Given the description of an element on the screen output the (x, y) to click on. 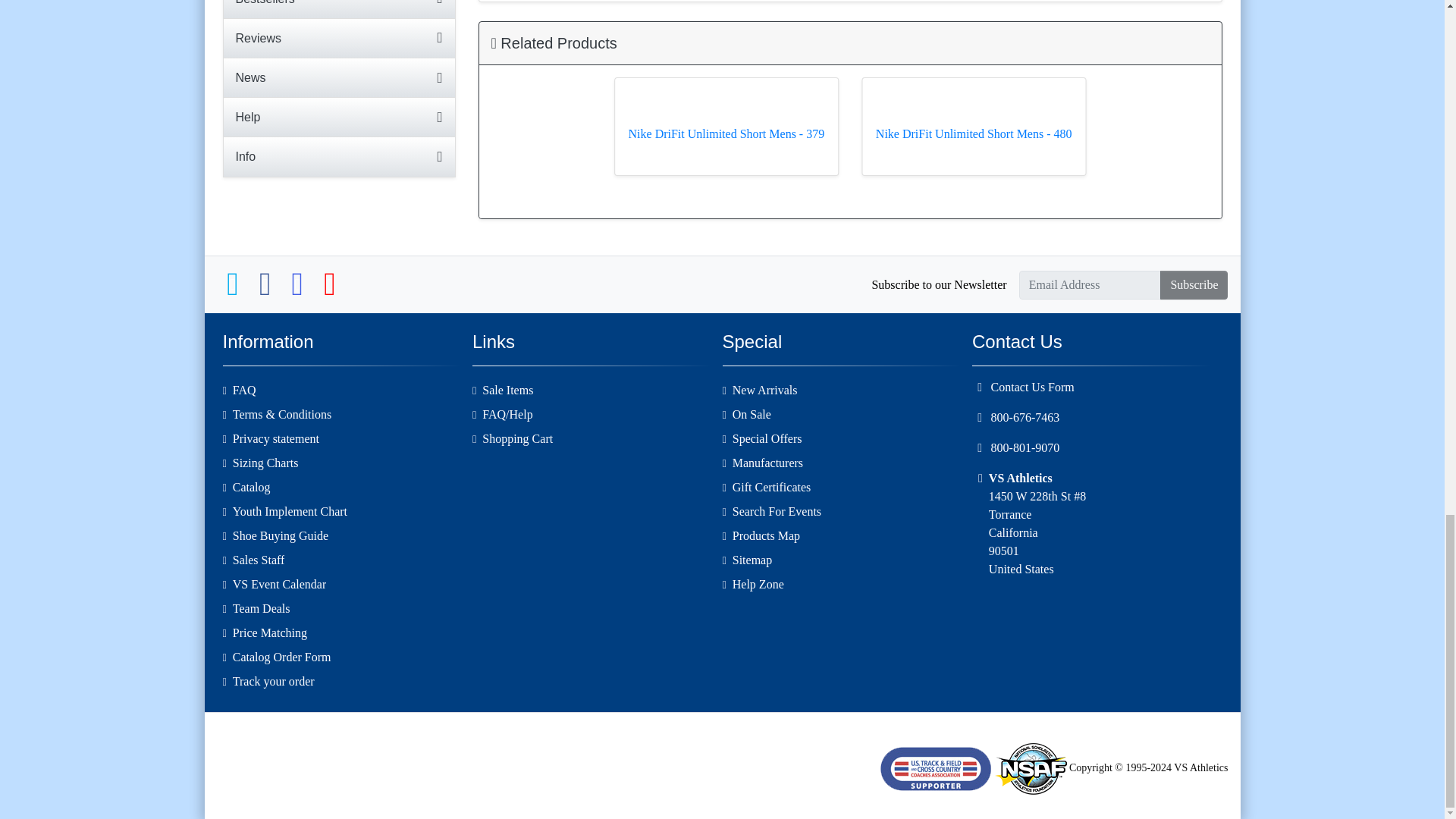
Nike DriFit Unlimited Short Mens - 379 (726, 141)
